Given the description of an element on the screen output the (x, y) to click on. 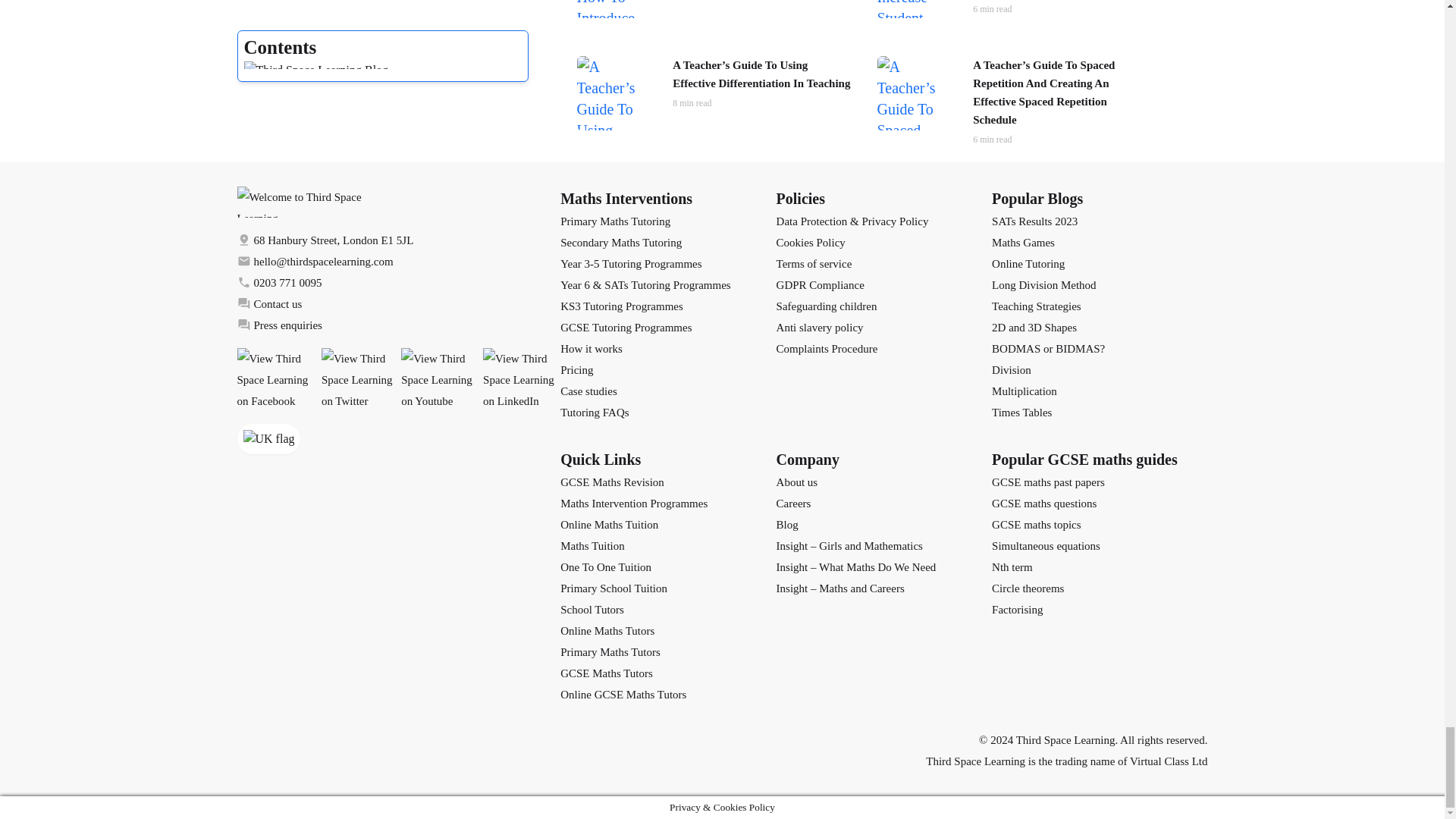
Third Space Learning address (397, 240)
View Third Space Learning on Facebook (274, 379)
Contact us via email (397, 260)
Give us a call (397, 282)
I Do We Do You Do: How To Introduce New Learning Effectively (713, 9)
View our contact us page (397, 303)
Welcome to Third Space Learning (397, 201)
Press information (397, 324)
